Given the description of an element on the screen output the (x, y) to click on. 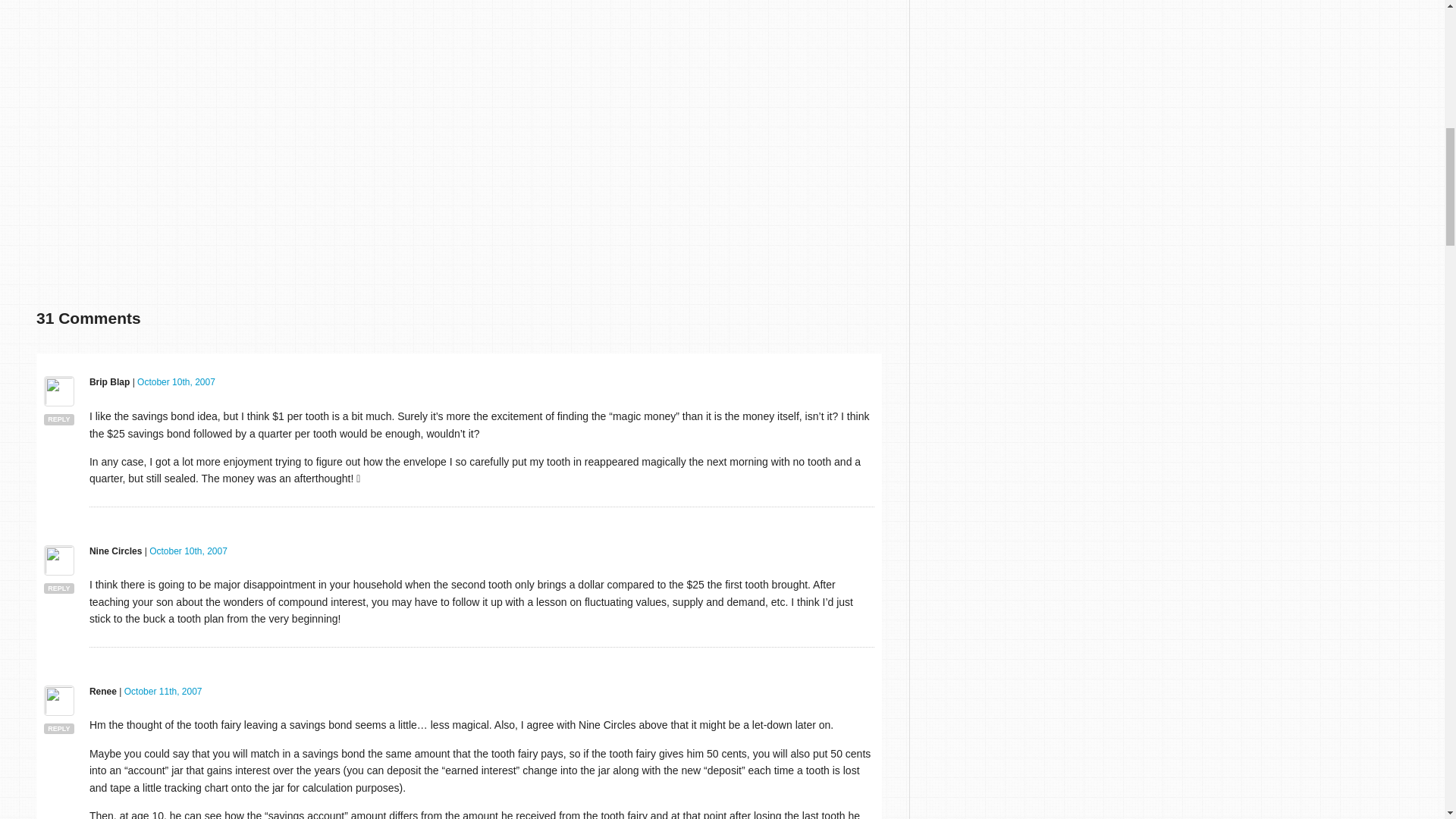
REPLY (58, 419)
REPLY (58, 728)
October 11th, 2007 (162, 691)
October 10th, 2007 (188, 551)
REPLY (58, 588)
October 10th, 2007 (175, 381)
